Given the description of an element on the screen output the (x, y) to click on. 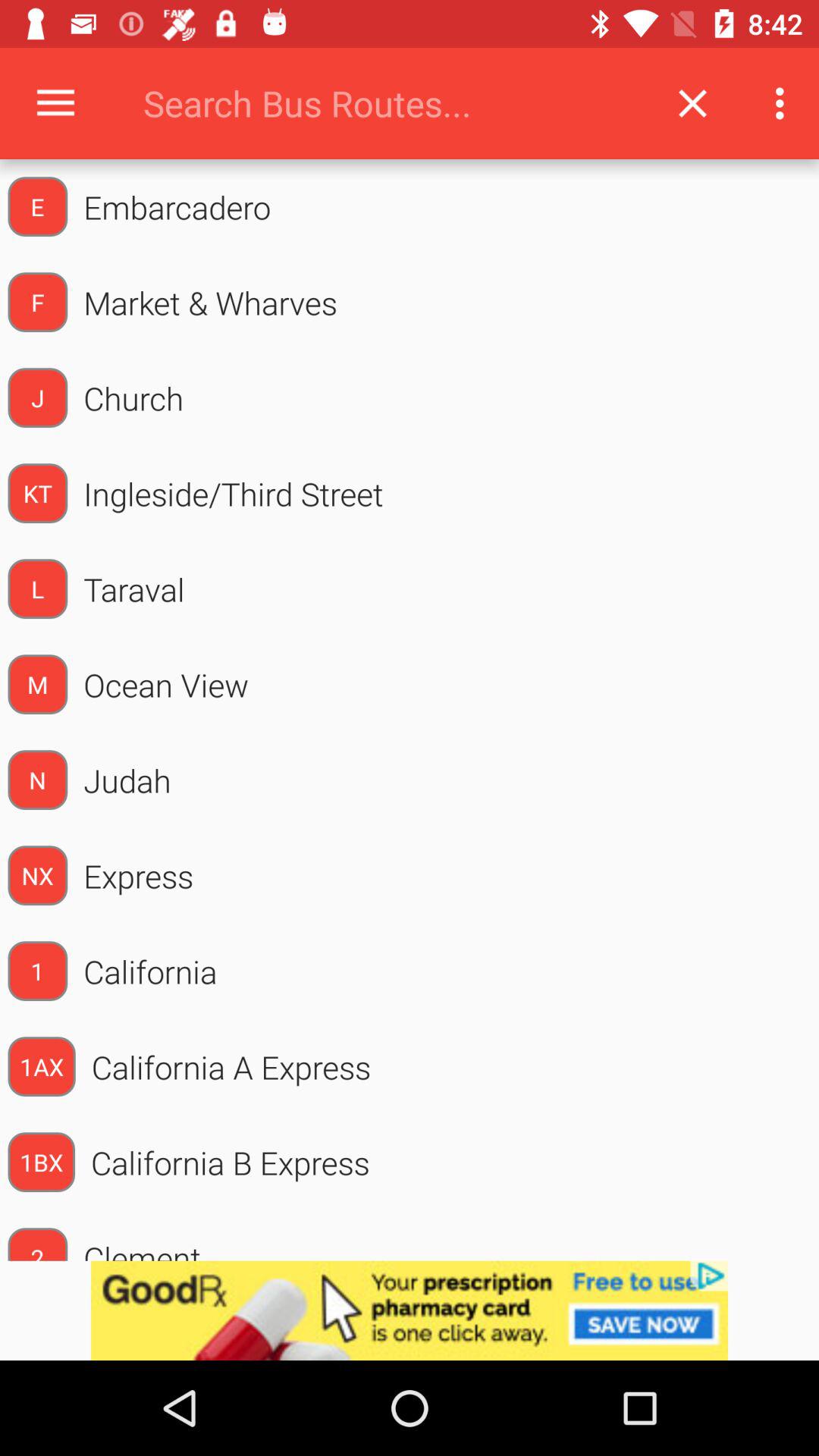
type bus route (389, 103)
